Given the description of an element on the screen output the (x, y) to click on. 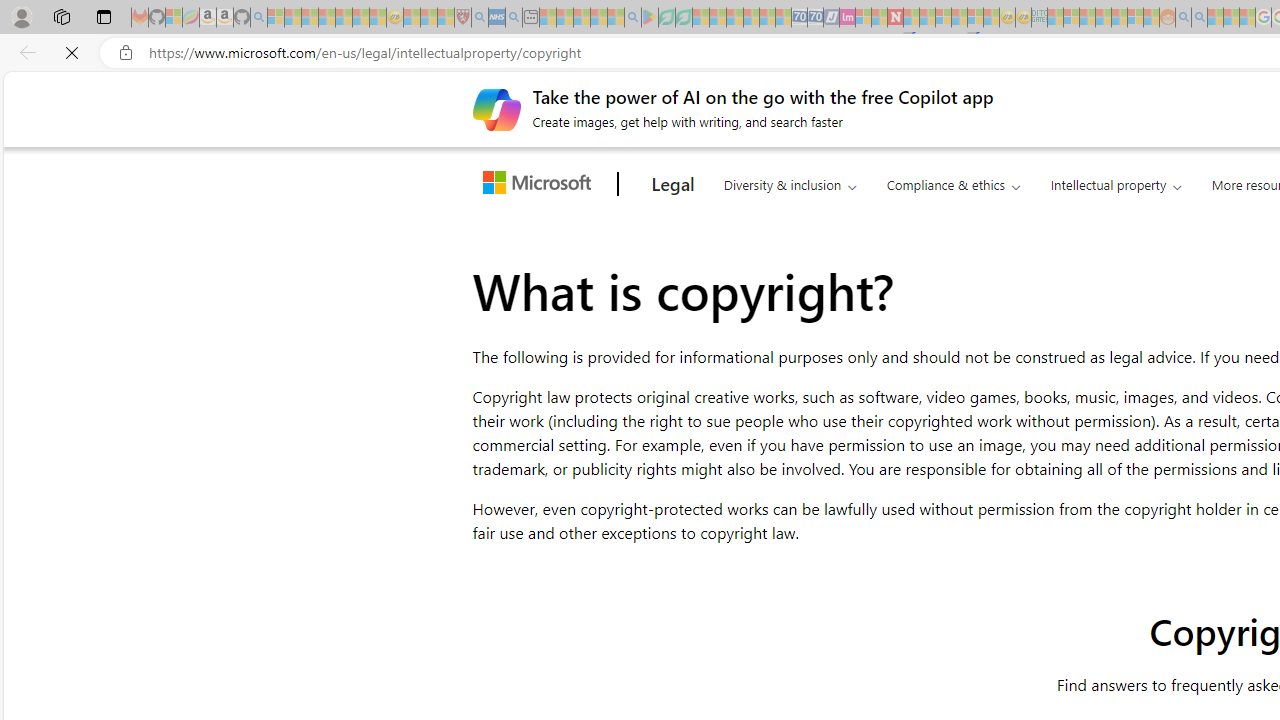
Microsoft (541, 184)
Local - MSN - Sleeping (445, 17)
Pets - MSN - Sleeping (598, 17)
Expert Portfolios - Sleeping (1103, 17)
